Given the description of an element on the screen output the (x, y) to click on. 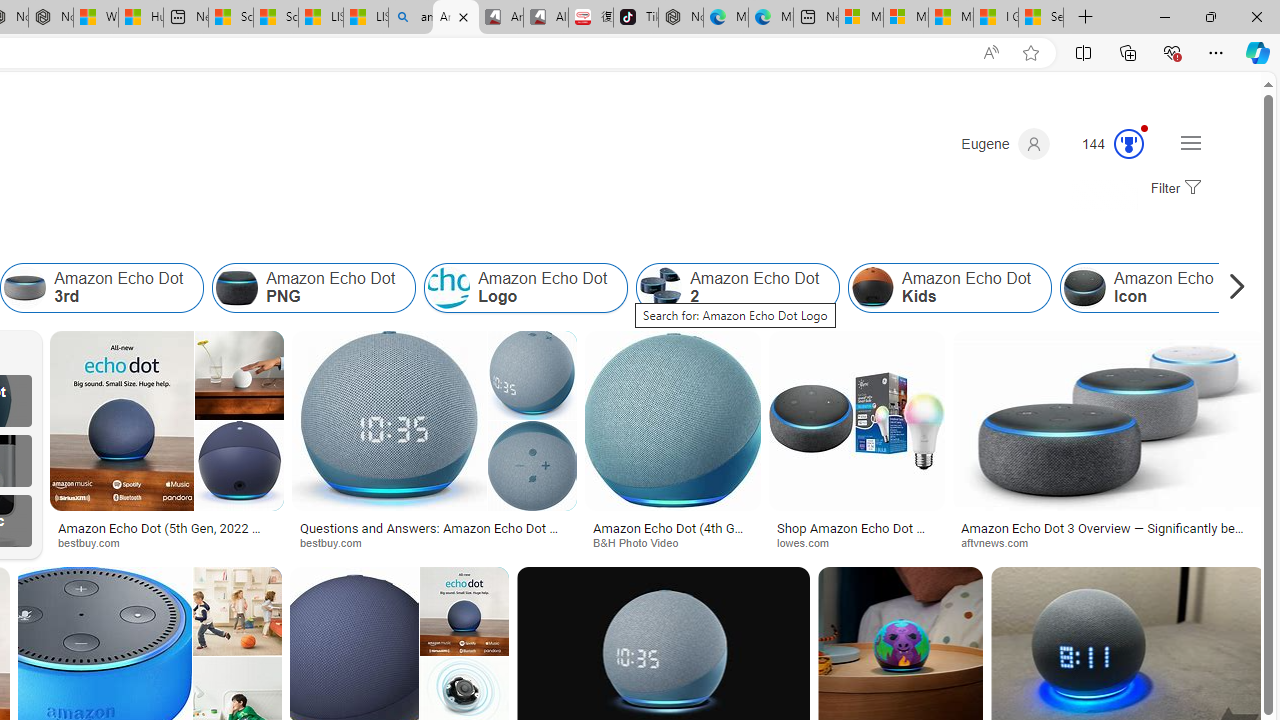
Amazon Echo Dot 3rd (102, 287)
Class: item col (1161, 287)
amazon - Search (410, 17)
Microsoft Rewards 141 (1105, 143)
Amazon Echo Dot PNG (314, 287)
Eugene (1005, 143)
aftvnews.com (1002, 541)
lowes.com (856, 542)
